Given the description of an element on the screen output the (x, y) to click on. 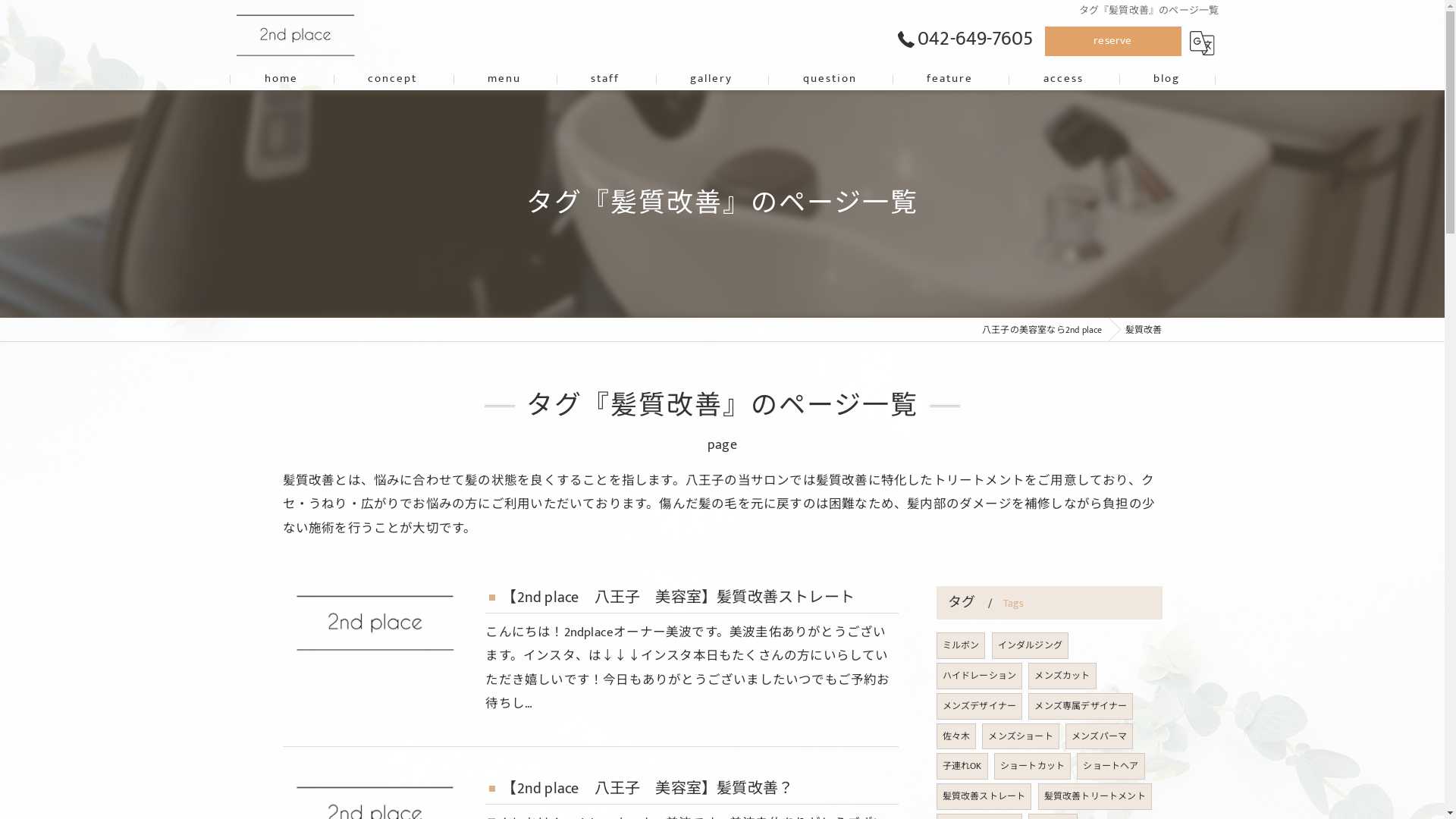
feature Element type: text (949, 78)
reserve Element type: text (1112, 41)
menu Element type: text (504, 78)
staff Element type: text (605, 78)
home Element type: text (280, 78)
blog Element type: text (1166, 78)
question Element type: text (829, 78)
concept Element type: text (392, 78)
access Element type: text (1062, 78)
gallery Element type: text (711, 78)
